Given the description of an element on the screen output the (x, y) to click on. 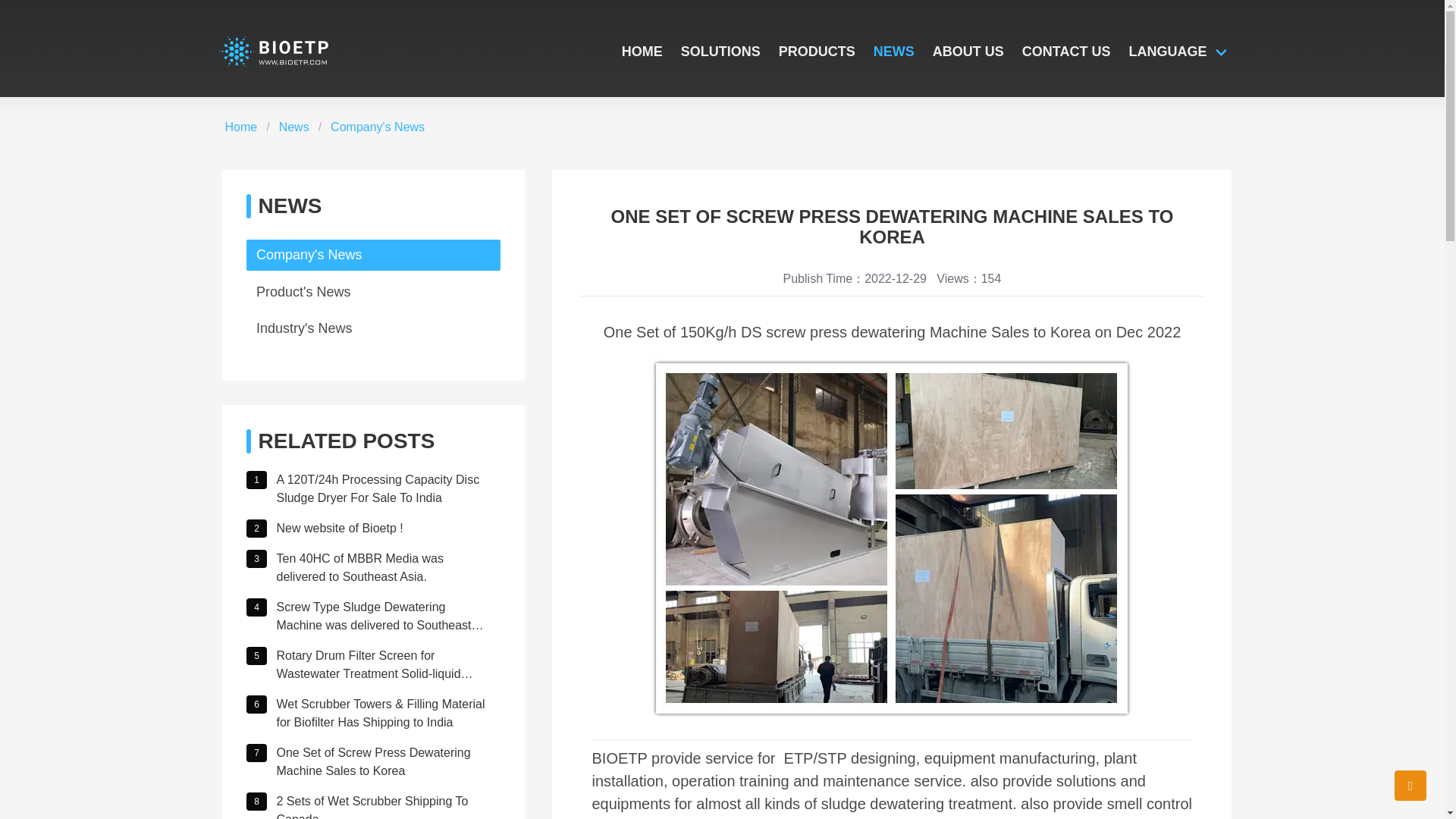
Contact Us (1066, 51)
PRODUCTS (817, 51)
NEWS (893, 51)
Products (817, 51)
HOME (641, 51)
SOLUTIONS (720, 51)
News (293, 126)
Language (1179, 51)
ABOUT US (968, 51)
BIOETP (272, 51)
